Given the description of an element on the screen output the (x, y) to click on. 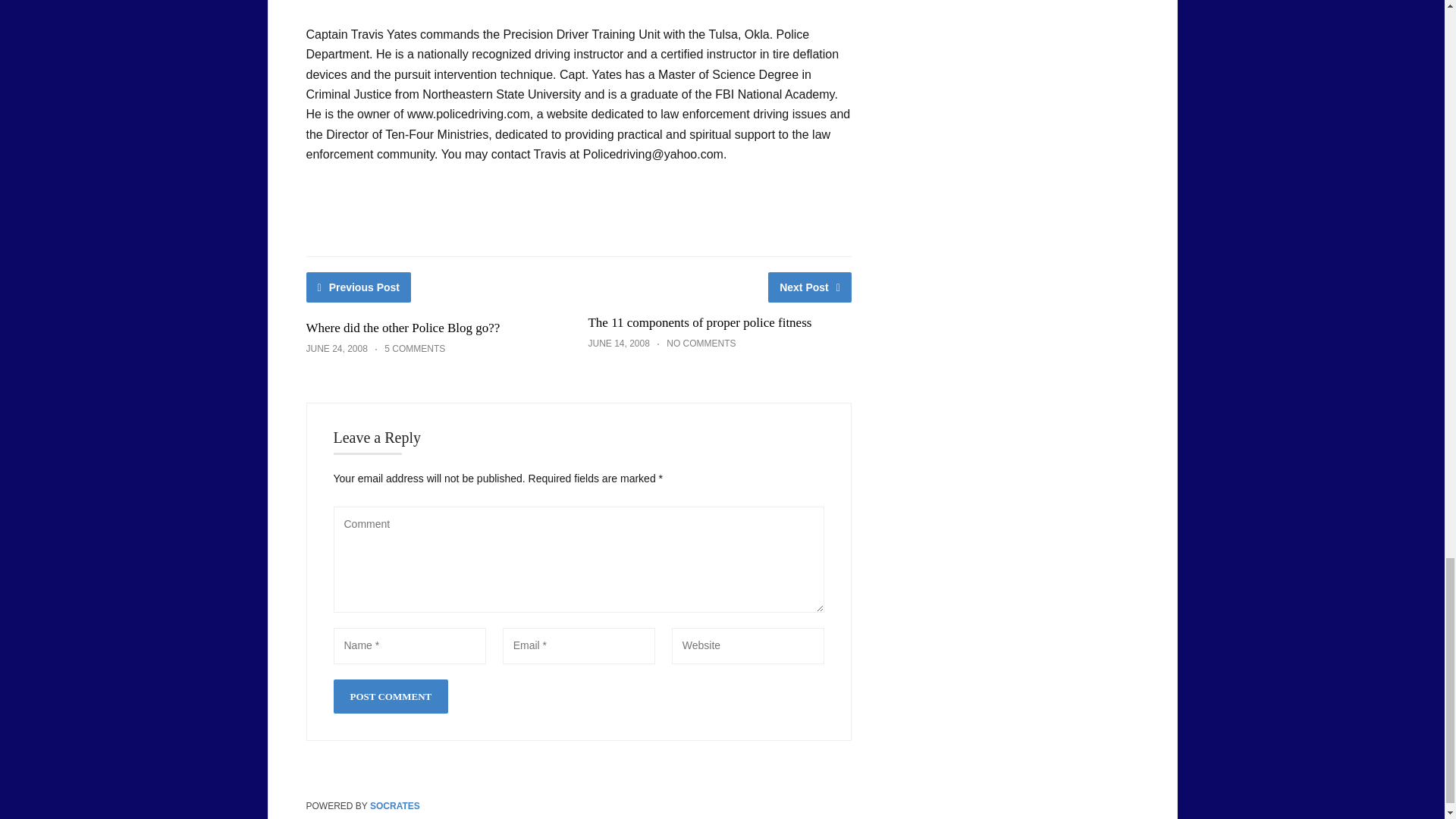
Previous Post (358, 286)
Post Comment (390, 696)
Post Comment (390, 696)
Where did the other Police Blog go?? (402, 327)
The 11 components of proper police fitness (699, 322)
NO COMMENTS (700, 343)
Next Post (809, 286)
SOCRATES (394, 805)
5 COMMENTS (414, 348)
